Given the description of an element on the screen output the (x, y) to click on. 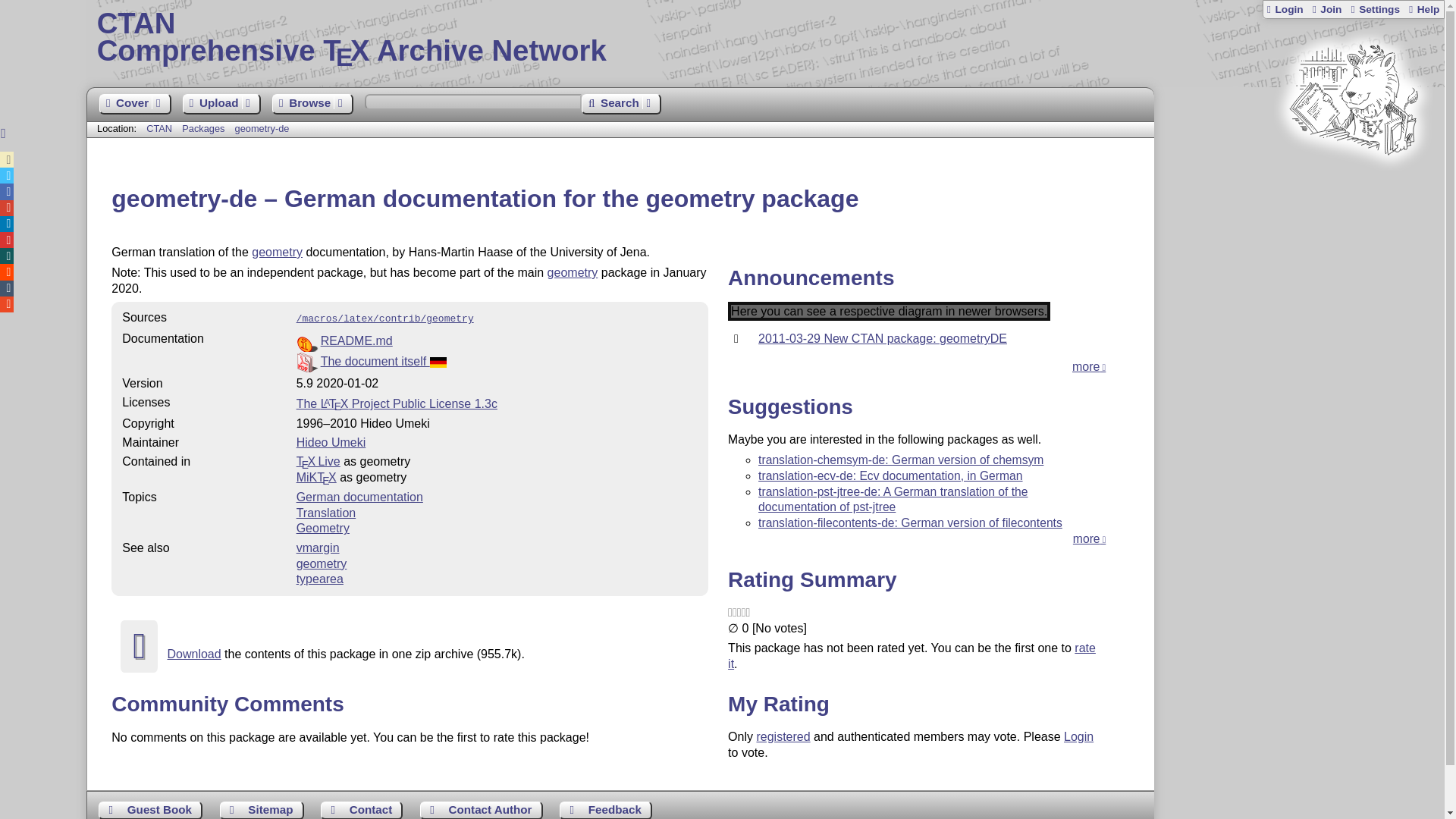
Register a new personal account on this site (1325, 8)
Settings (1374, 8)
The document itself (383, 360)
CTAN (159, 128)
Read Me file (497, 341)
Login (1284, 8)
Search (620, 104)
Spectrum indicating the announcements for the package (888, 311)
Packages (204, 128)
CTAN lion drawing by Duane Bibby (1353, 183)
